Given the description of an element on the screen output the (x, y) to click on. 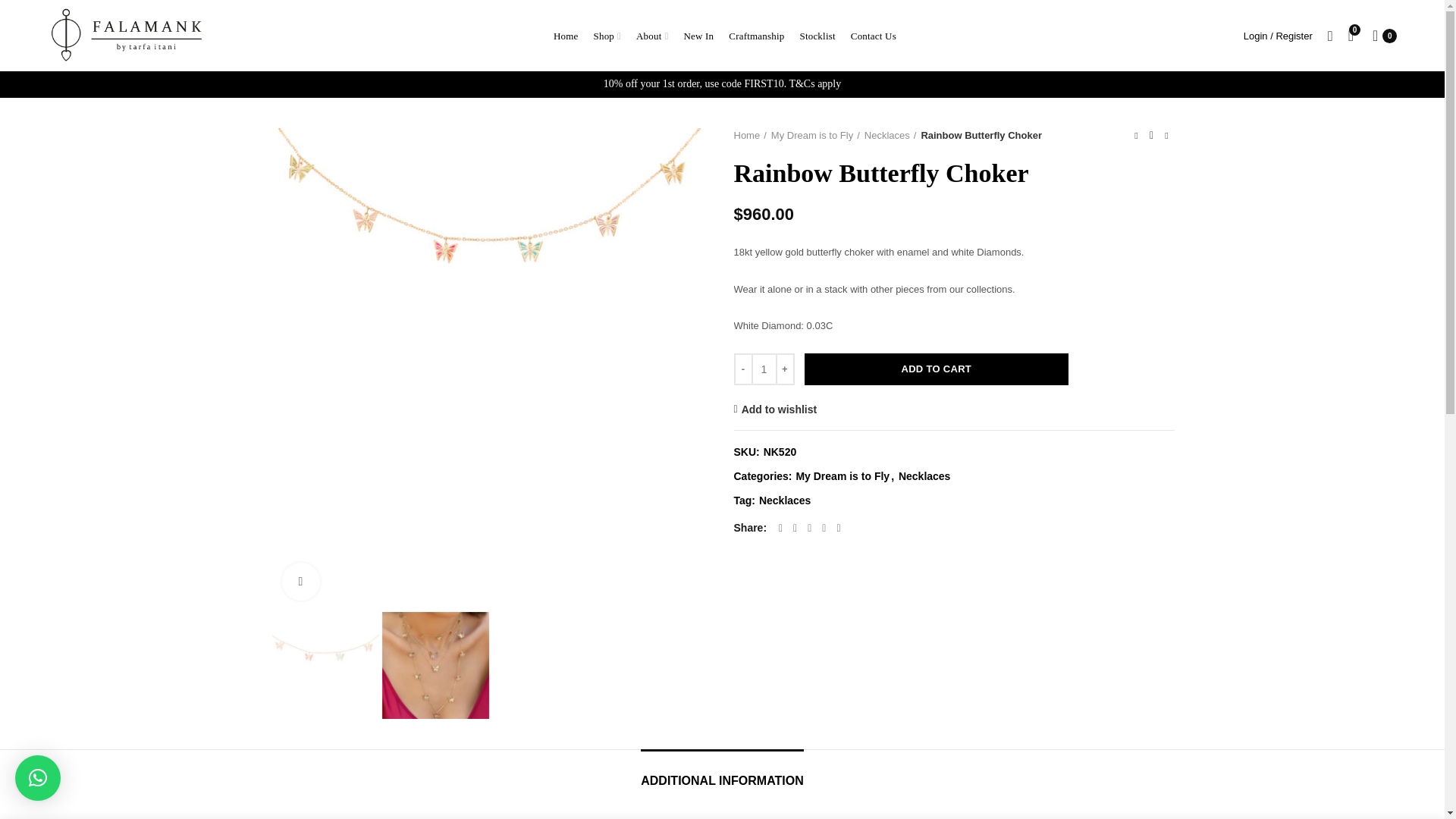
Shopping cart (1385, 35)
Home (566, 35)
Shop (607, 35)
My account (1278, 35)
